Given the description of an element on the screen output the (x, y) to click on. 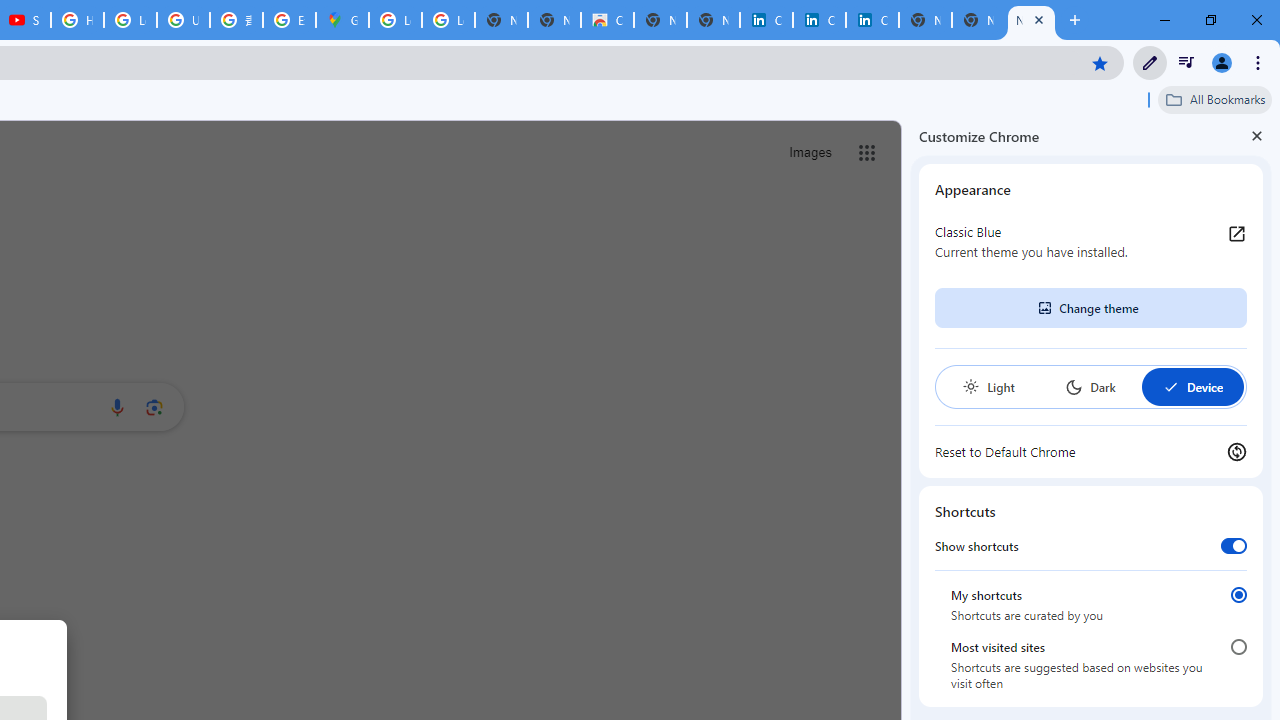
Cookie Policy | LinkedIn (819, 20)
Most visited sites (1238, 647)
Chrome Web Store (607, 20)
Reset to Default Chrome (1091, 452)
Classic Blue Current theme you have installed. (1091, 241)
Show shortcuts (1233, 545)
Control your music, videos, and more (1185, 62)
Change theme (1090, 308)
Dark (1090, 386)
New Tab (1031, 20)
Google Maps (342, 20)
